Given the description of an element on the screen output the (x, y) to click on. 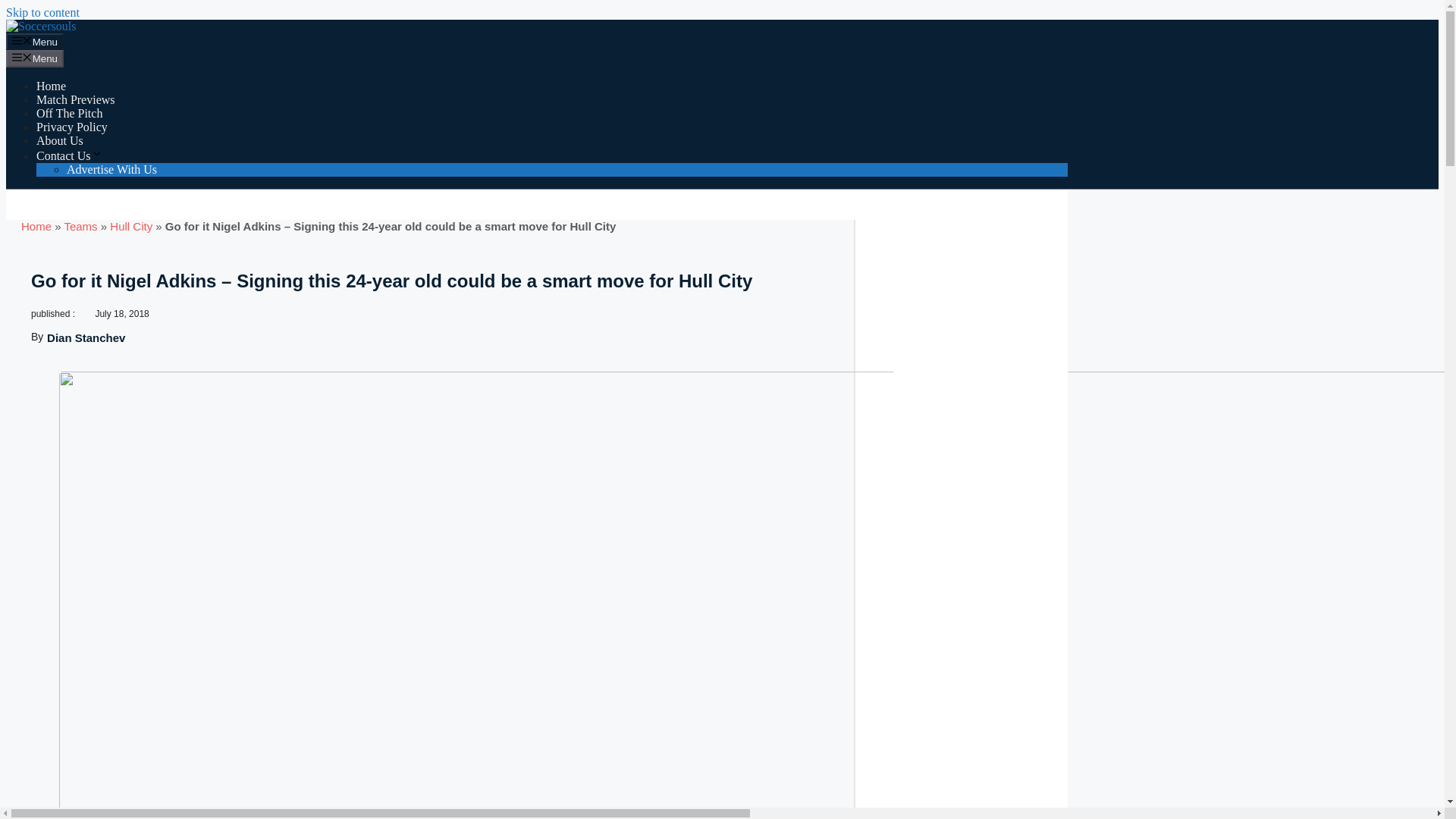
Hull City (131, 226)
Skip to content (42, 11)
About Us (59, 140)
Home (35, 226)
Off The Pitch (68, 113)
Match Previews (75, 99)
Menu (34, 41)
Menu (34, 57)
Teams (80, 226)
Dian Stanchev (85, 337)
